Given the description of an element on the screen output the (x, y) to click on. 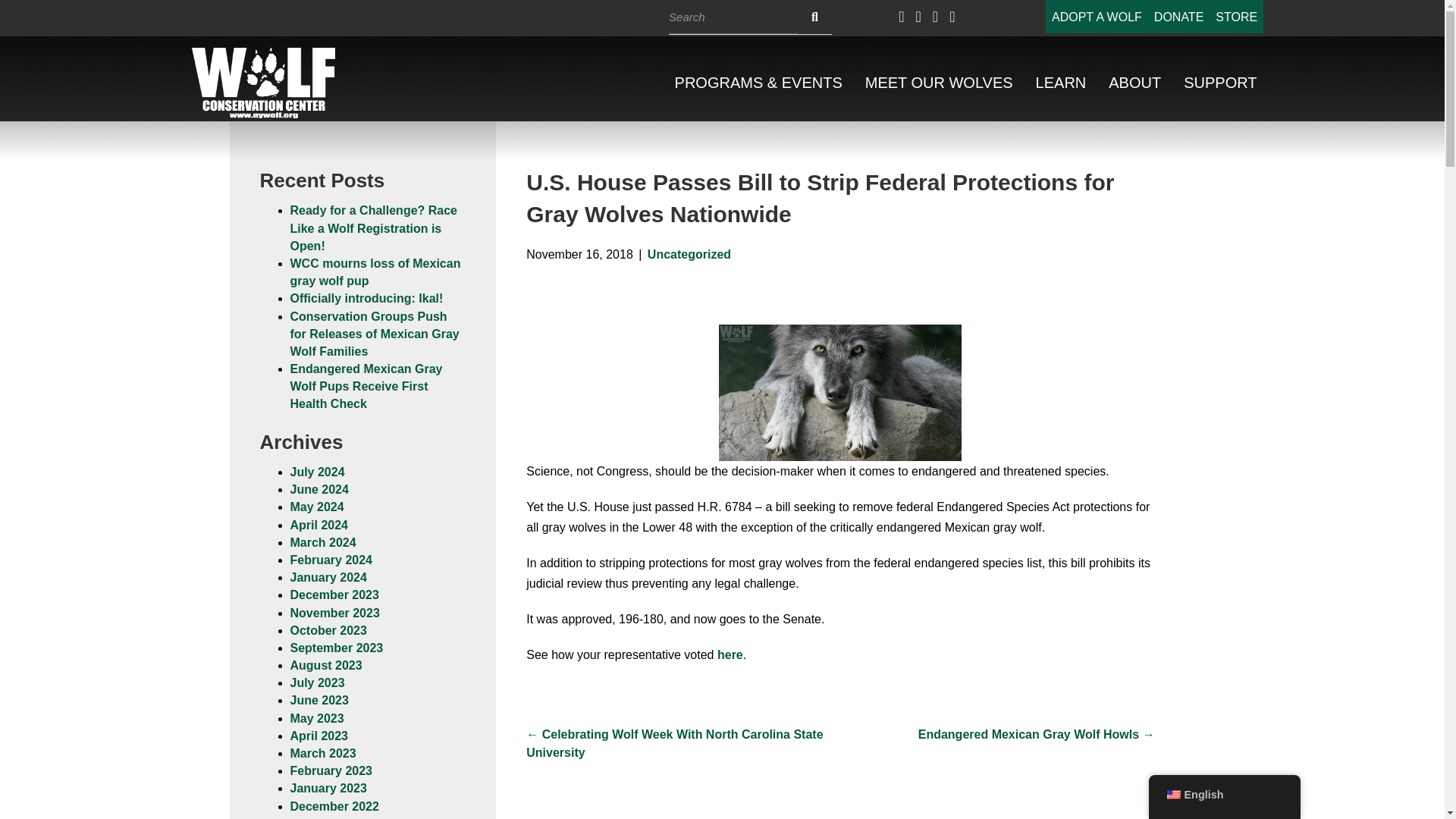
Wcc Logo White (264, 82)
STORE (1236, 16)
MEET OUR WOLVES (939, 82)
DONATE (1178, 16)
LEARN (1061, 82)
Search (732, 17)
English (1172, 794)
ADOPT A WOLF (1096, 16)
